Given the description of an element on the screen output the (x, y) to click on. 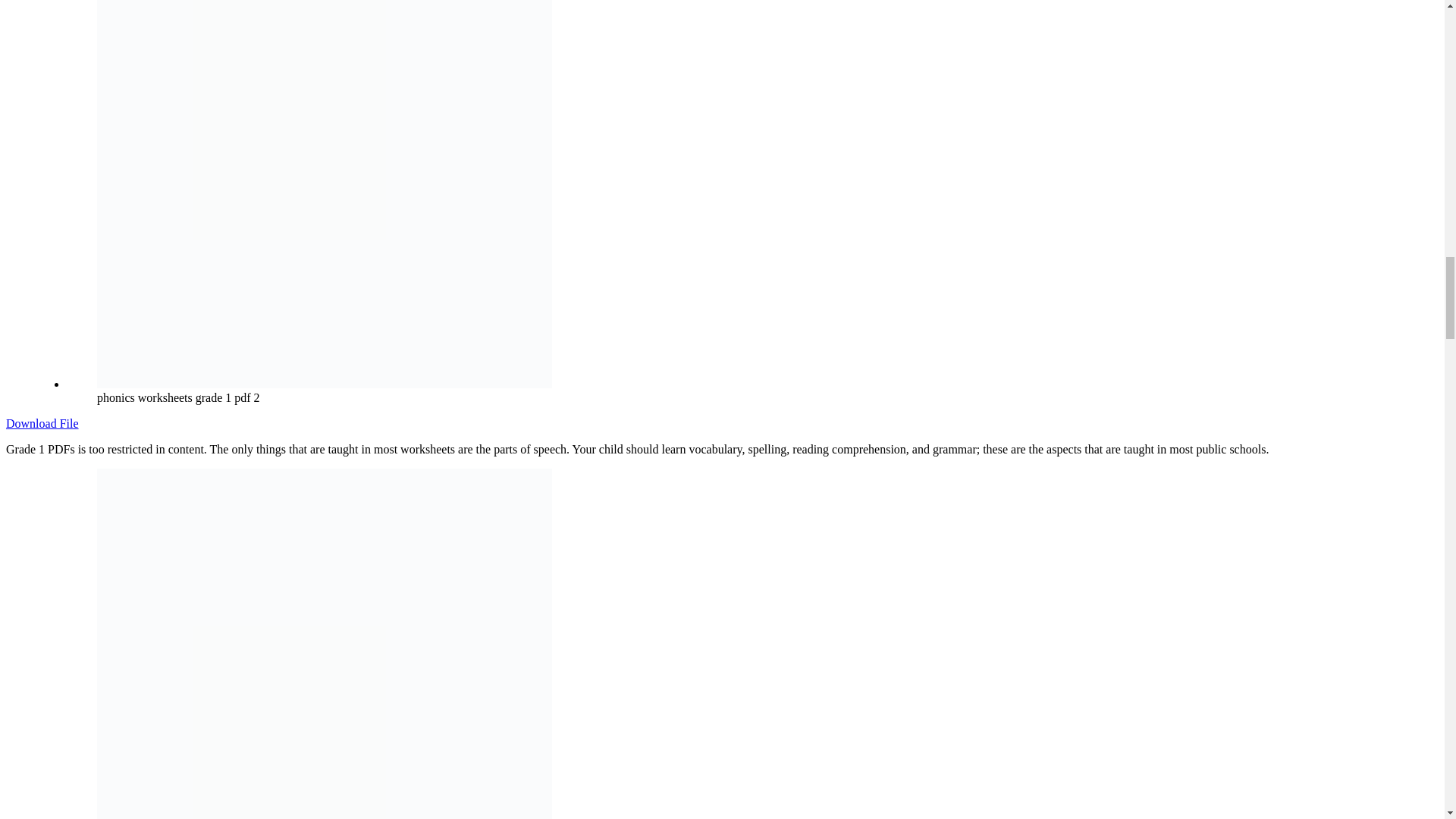
Download File (41, 422)
